Given the description of an element on the screen output the (x, y) to click on. 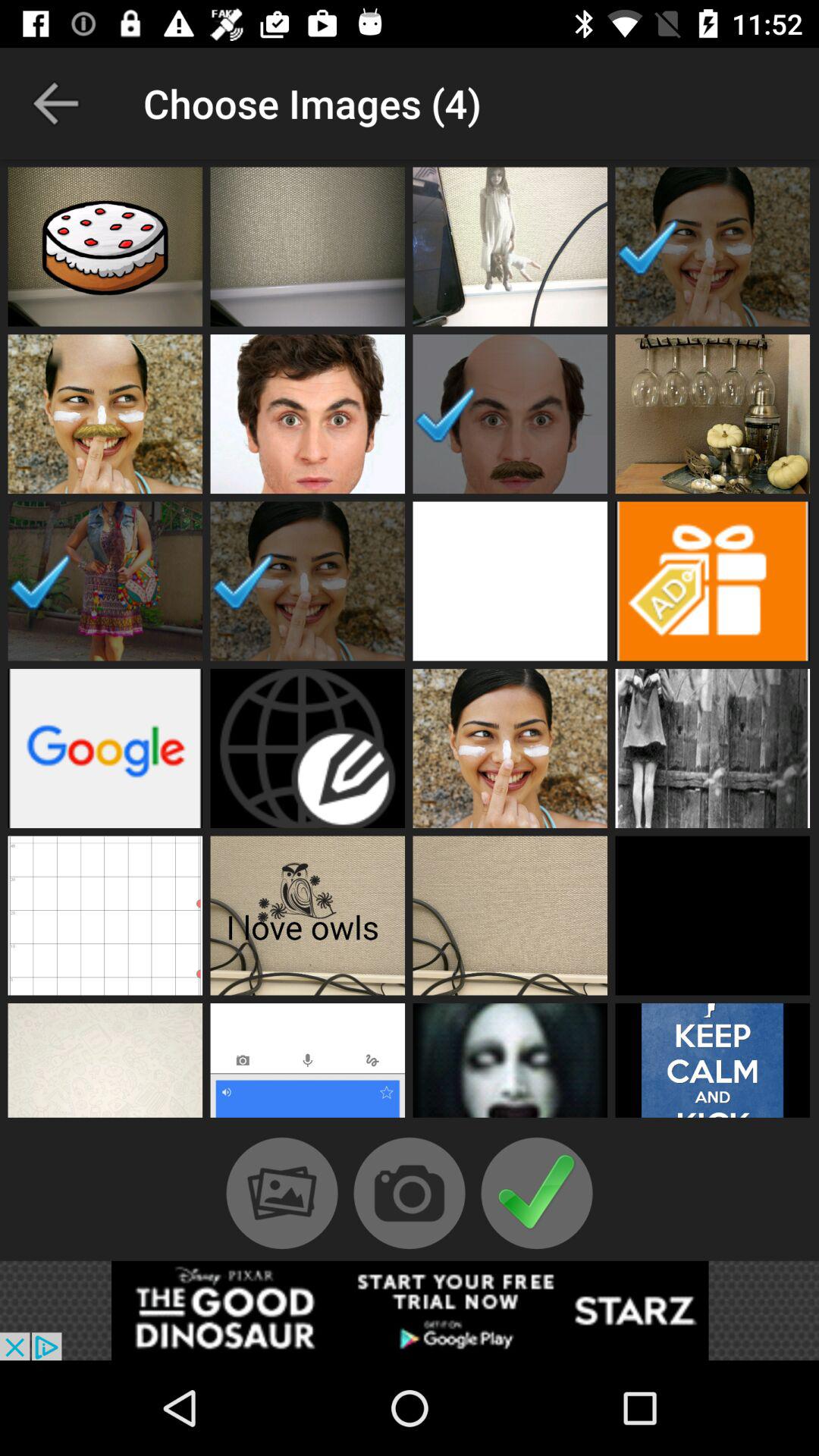
image choice (104, 413)
